Given the description of an element on the screen output the (x, y) to click on. 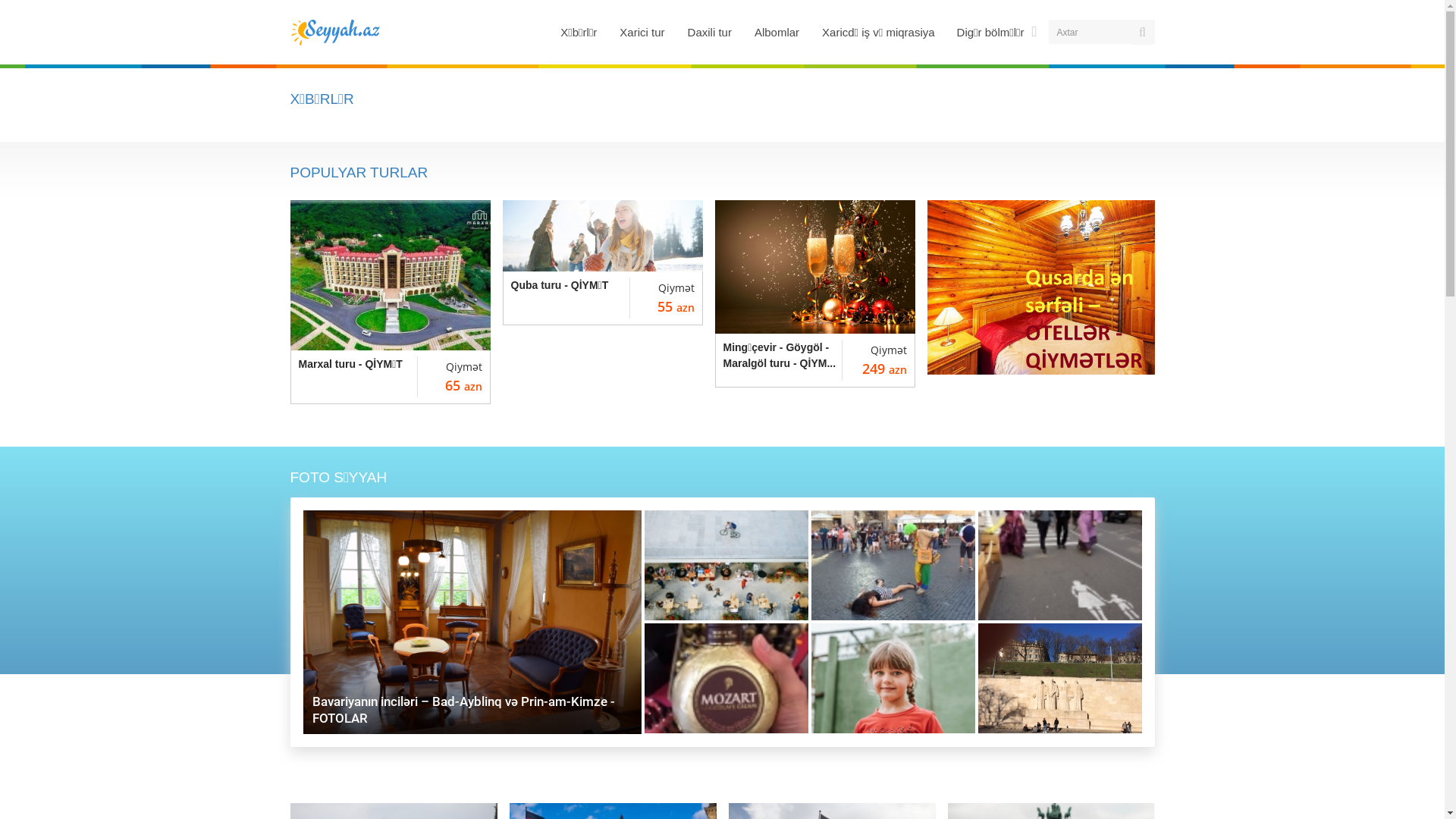
Daxili tur Element type: text (709, 32)
Albomlar Element type: text (776, 32)
Xarici tur Element type: text (641, 32)
